Given the description of an element on the screen output the (x, y) to click on. 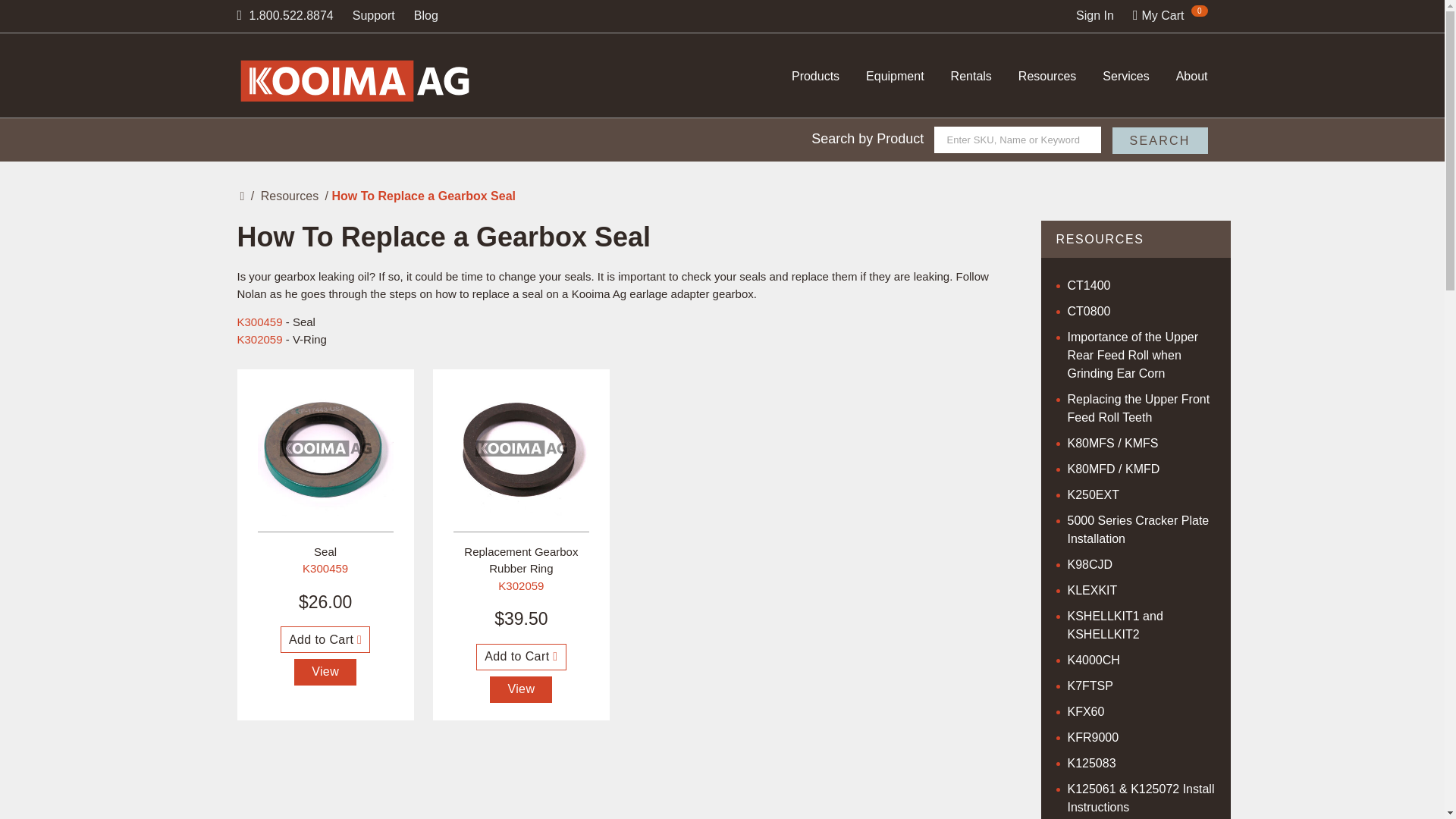
Rentals (970, 76)
Products (816, 76)
Resources (1046, 76)
YouTube video player (618, 785)
Equipment (895, 76)
